Given the description of an element on the screen output the (x, y) to click on. 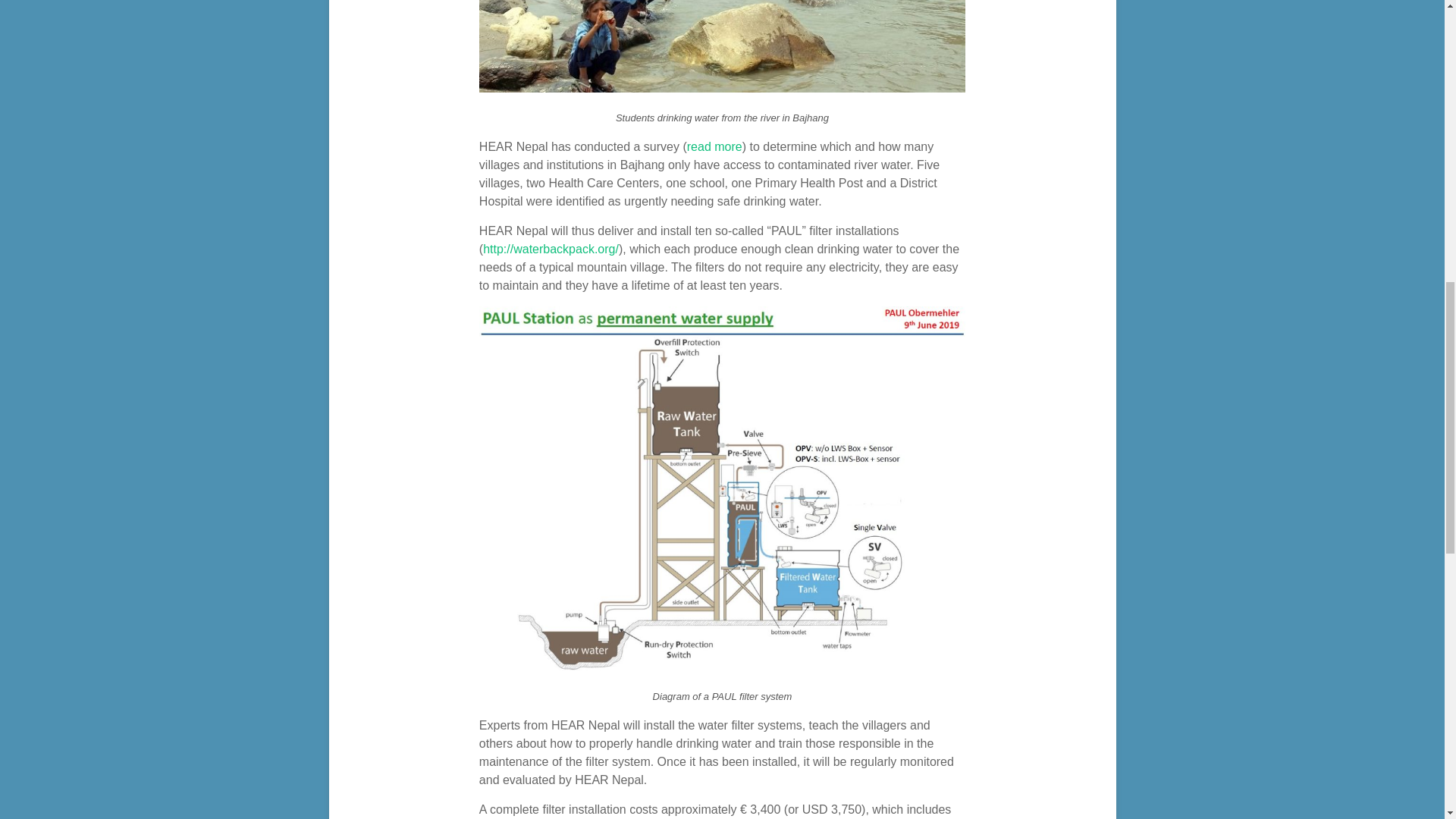
read more (714, 146)
